Given the description of an element on the screen output the (x, y) to click on. 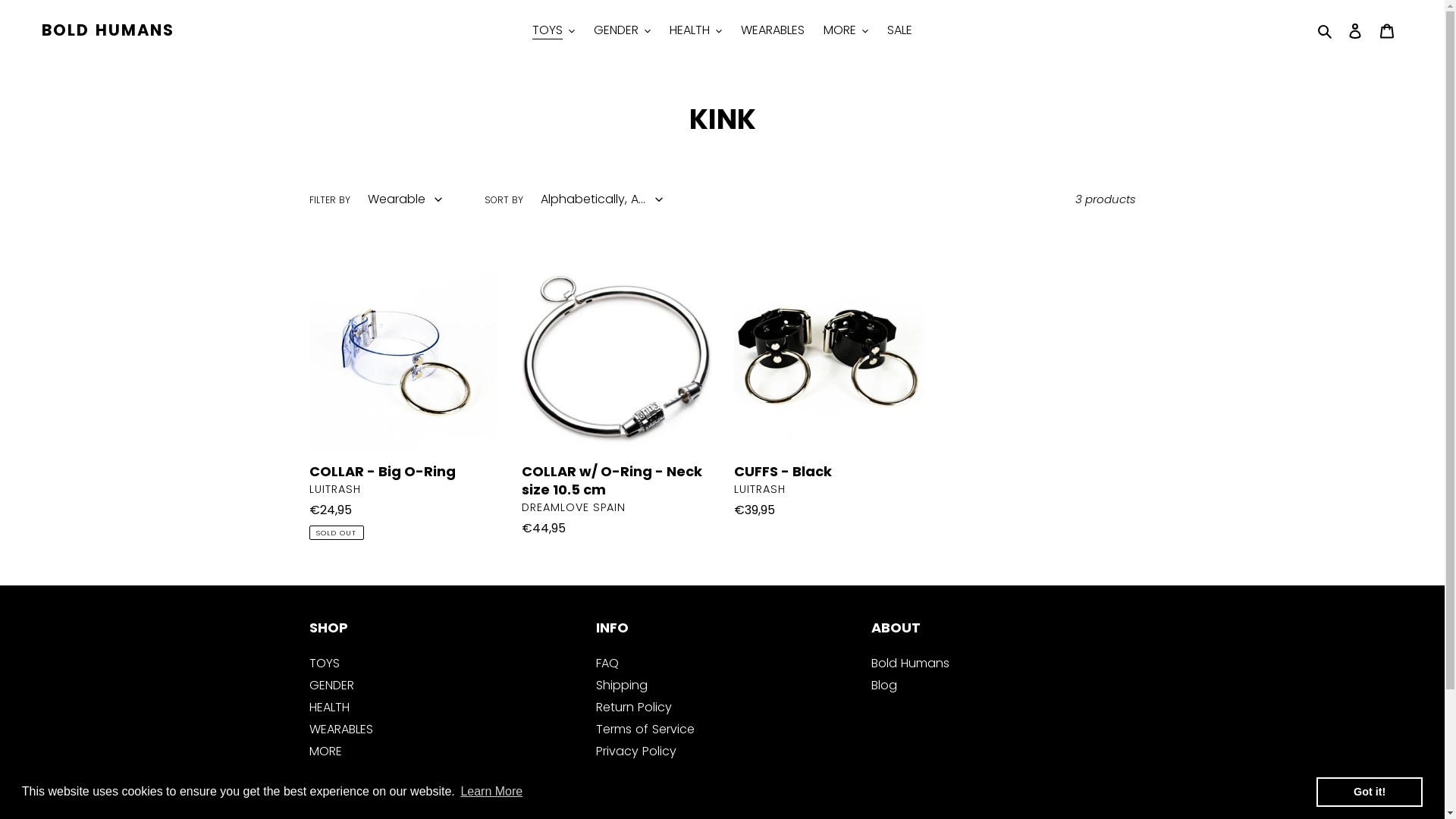
CUFFS - Black Element type: text (828, 393)
HEALTH Element type: text (695, 29)
Bold Humans Element type: text (910, 662)
TOYS Element type: text (553, 29)
Sex Toy Materials Element type: text (647, 772)
MORE Element type: text (845, 29)
FAQ Element type: text (607, 662)
WEARABLES Element type: text (772, 29)
BOLD HUMANS Element type: text (107, 29)
Log in Element type: text (1355, 30)
COLLAR w/ O-Ring - Neck size 10.5 cm Element type: text (616, 402)
Cart Element type: text (1386, 30)
Learn More Element type: text (491, 791)
Shipping Element type: text (621, 684)
WEARABLES Element type: text (341, 728)
GENDER Element type: text (622, 29)
SALE Element type: text (321, 772)
HEALTH Element type: text (329, 706)
GENDER Element type: text (331, 684)
MORE Element type: text (325, 750)
TOYS Element type: text (324, 662)
Privacy Policy Element type: text (636, 750)
Return Policy Element type: text (633, 706)
Blog Element type: text (884, 684)
COLLAR - Big O-Ring Element type: text (403, 400)
Search Element type: text (1325, 30)
Terms of Service Element type: text (645, 728)
Got it! Element type: text (1369, 791)
SALE Element type: text (899, 29)
